Given the description of an element on the screen output the (x, y) to click on. 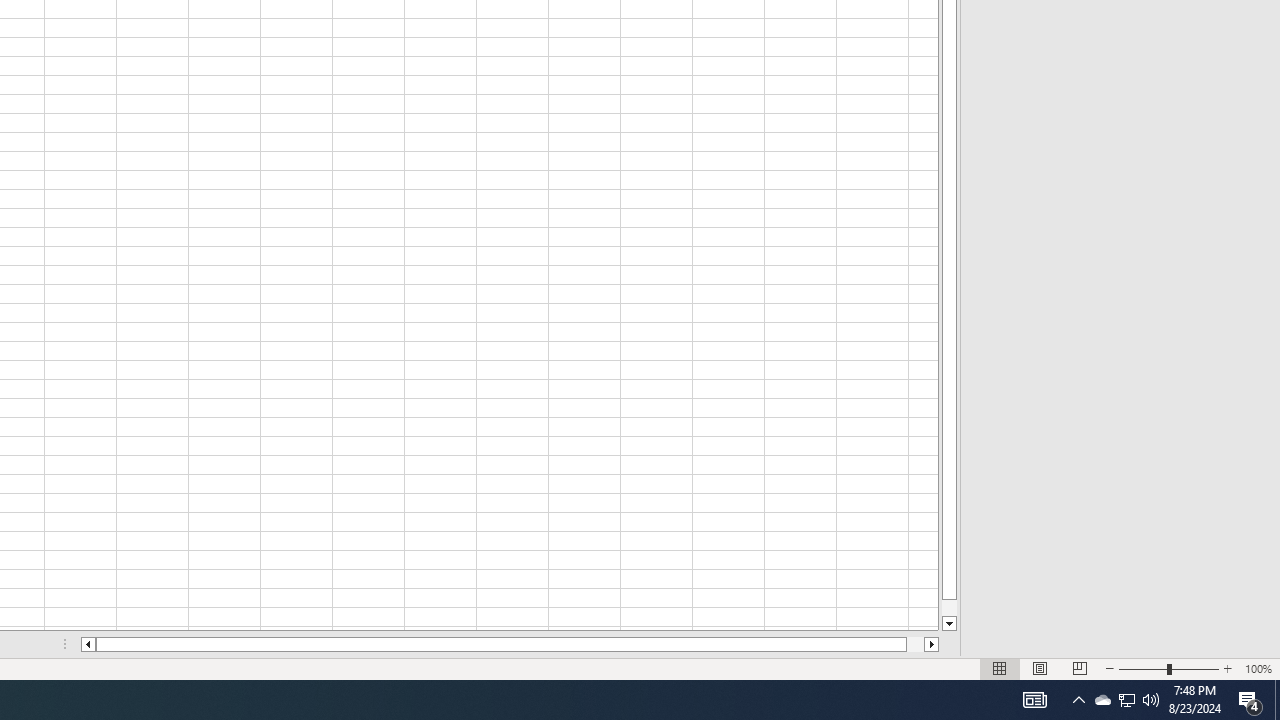
Normal (1000, 668)
Column left (87, 644)
Class: NetUIScrollBar (509, 644)
Column right (932, 644)
Zoom Out (1142, 668)
Page Break Preview (1079, 668)
Page down (948, 607)
Page right (915, 644)
Line down (948, 624)
Zoom (1168, 668)
Zoom In (1227, 668)
Page Layout (1039, 668)
